Given the description of an element on the screen output the (x, y) to click on. 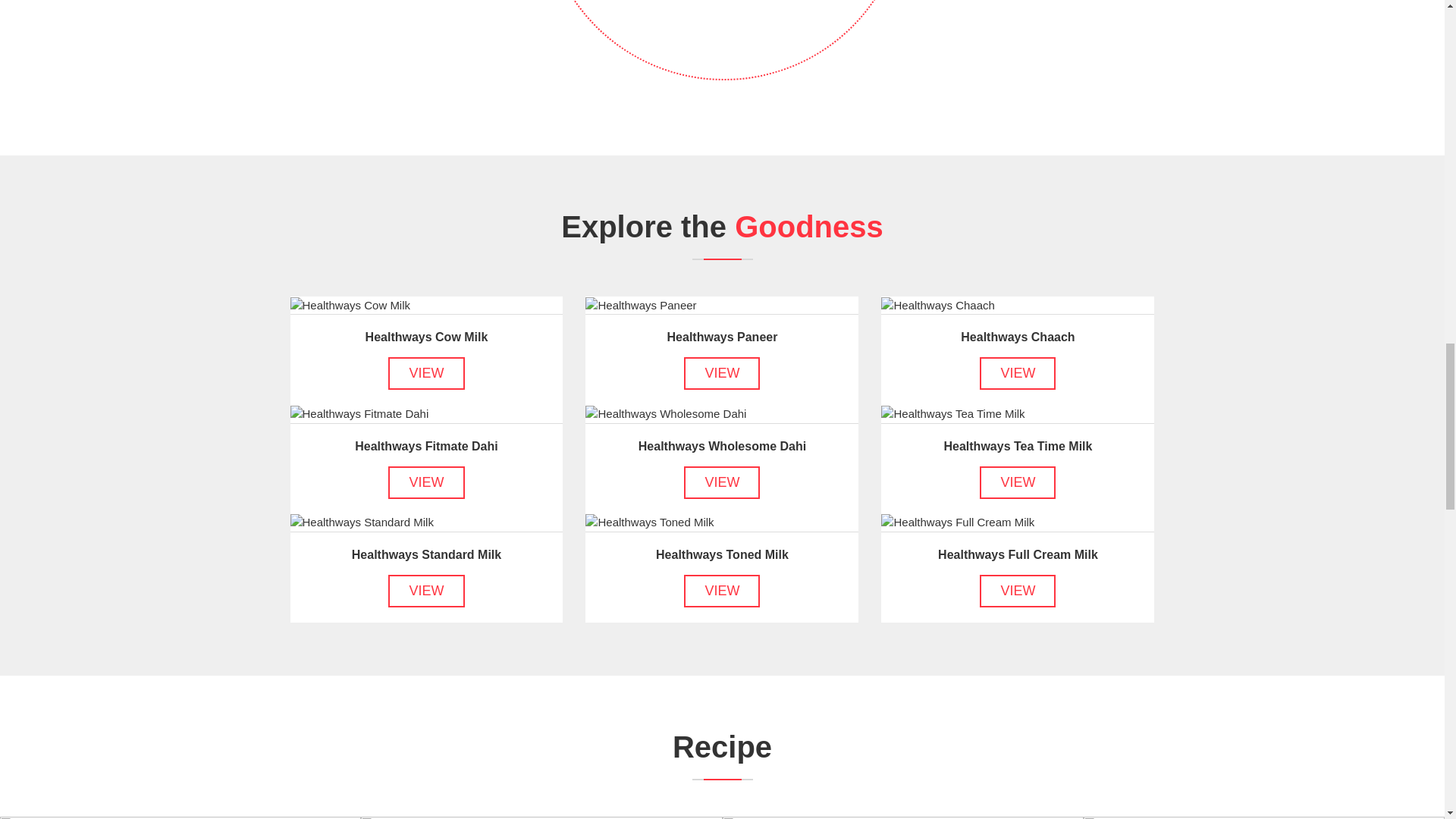
VIEW (721, 372)
VIEW (426, 590)
VIEW (721, 482)
VIEW (1017, 590)
VIEW (426, 372)
VIEW (1017, 372)
VIEW (1017, 482)
VIEW (426, 482)
VIEW (721, 590)
